Given the description of an element on the screen output the (x, y) to click on. 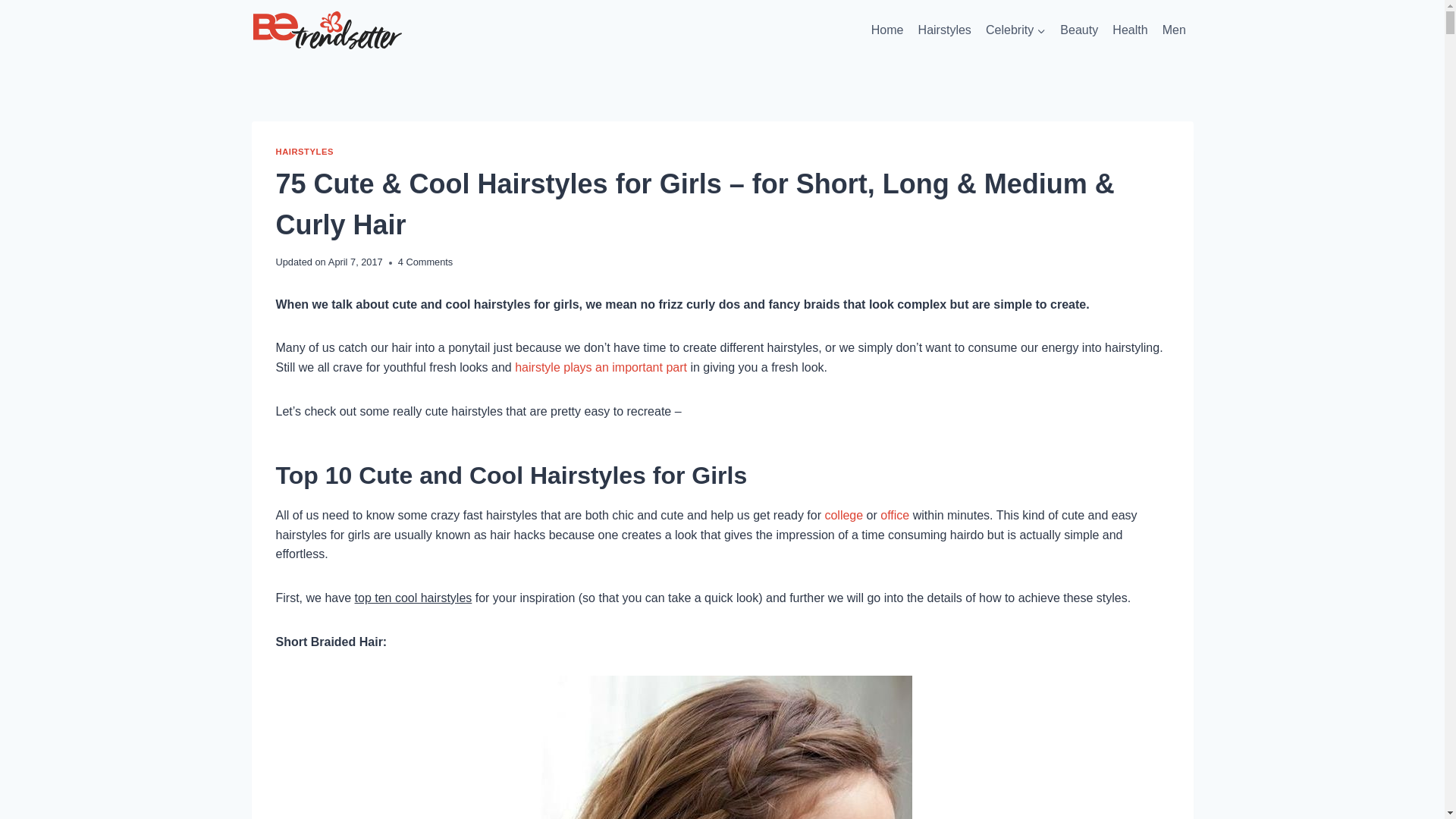
4 Comments (424, 262)
4 Comments (424, 262)
Home (887, 30)
Men (1173, 30)
Beauty (1078, 30)
HAIRSTYLES (304, 151)
hairstyle plays an important part (601, 367)
Hairstyles (944, 30)
college (843, 514)
Health (1129, 30)
